Given the description of an element on the screen output the (x, y) to click on. 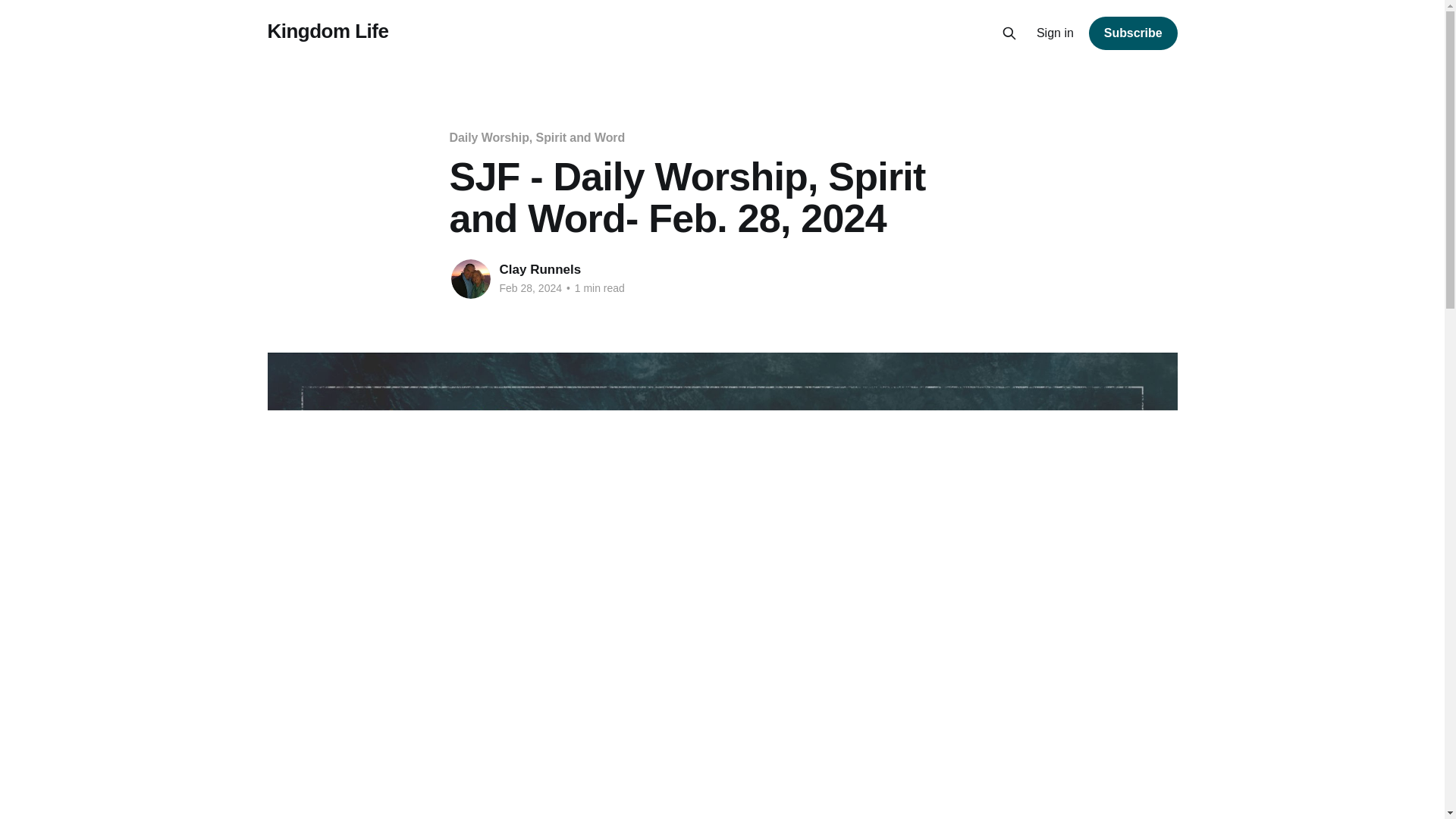
Kingdom Life (327, 31)
Sign in (1055, 33)
Daily Worship, Spirit and Word (536, 137)
Clay Runnels (539, 269)
Subscribe (1133, 32)
